Given the description of an element on the screen output the (x, y) to click on. 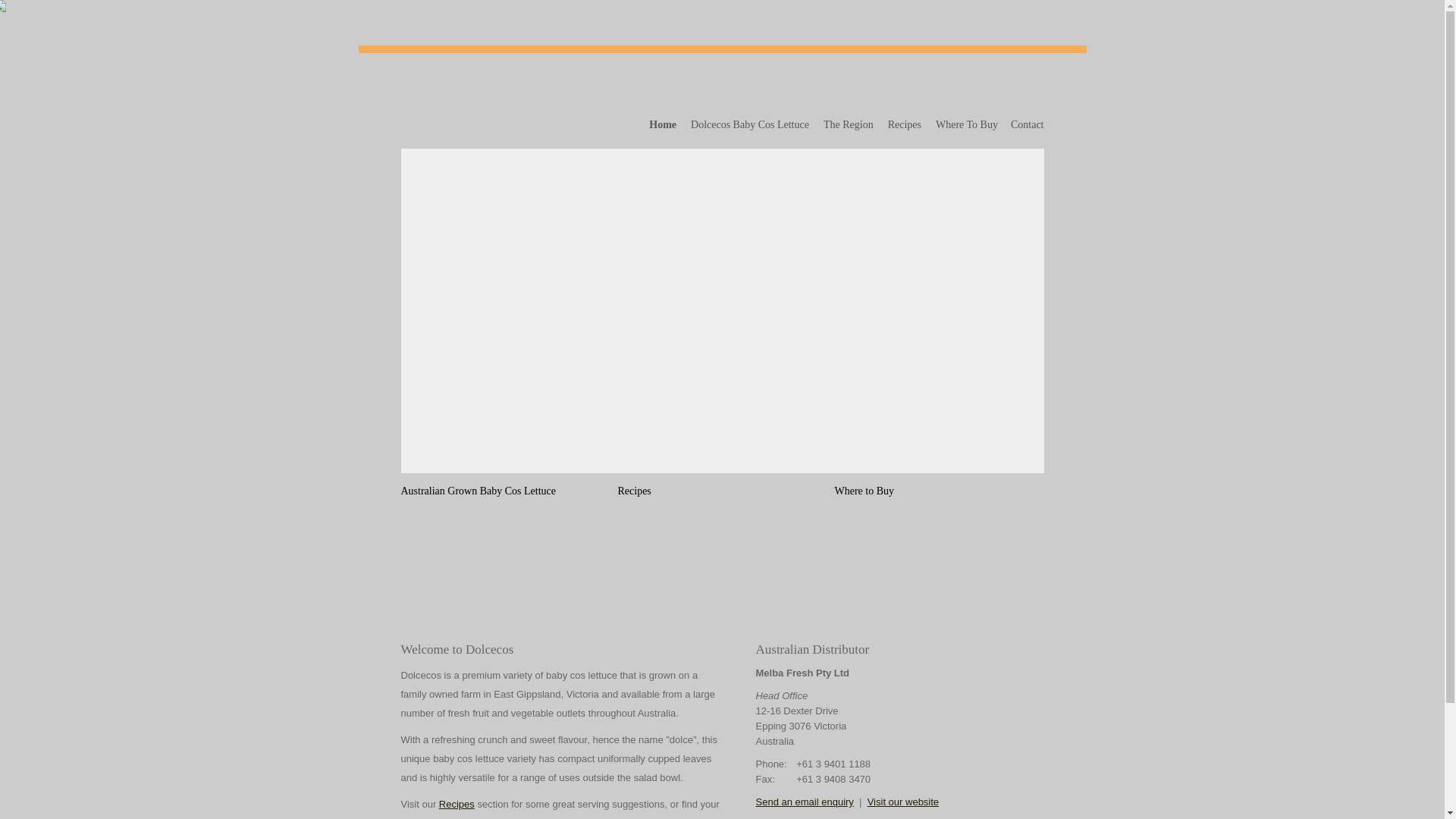
Home Element type: text (663, 124)
Contact Element type: text (1024, 124)
Send an email enquiry Element type: text (804, 801)
Recipes Element type: text (905, 124)
Recipes Element type: text (456, 803)
Recipes Element type: text (721, 561)
Where To Buy Element type: text (967, 124)
The Region Element type: text (849, 124)
Australian Grown Baby Cos Lettuce Element type: text (504, 561)
Where to Buy Element type: text (938, 561)
Dolcecos Baby Cos Lettuce Element type: text (750, 124)
Visit our website Element type: text (902, 801)
